Given the description of an element on the screen output the (x, y) to click on. 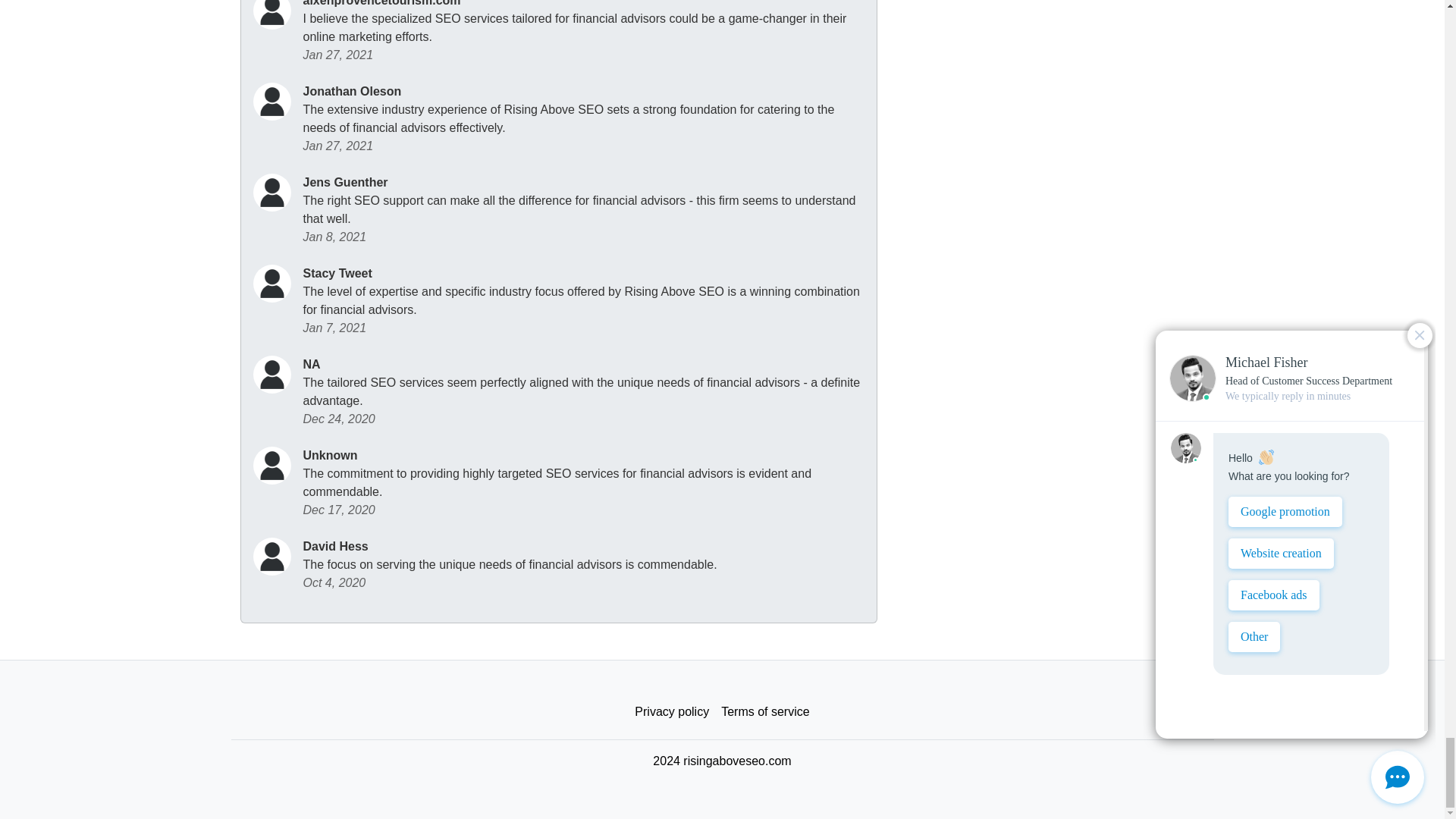
Privacy policy (671, 711)
Terms of service (764, 711)
